Given the description of an element on the screen output the (x, y) to click on. 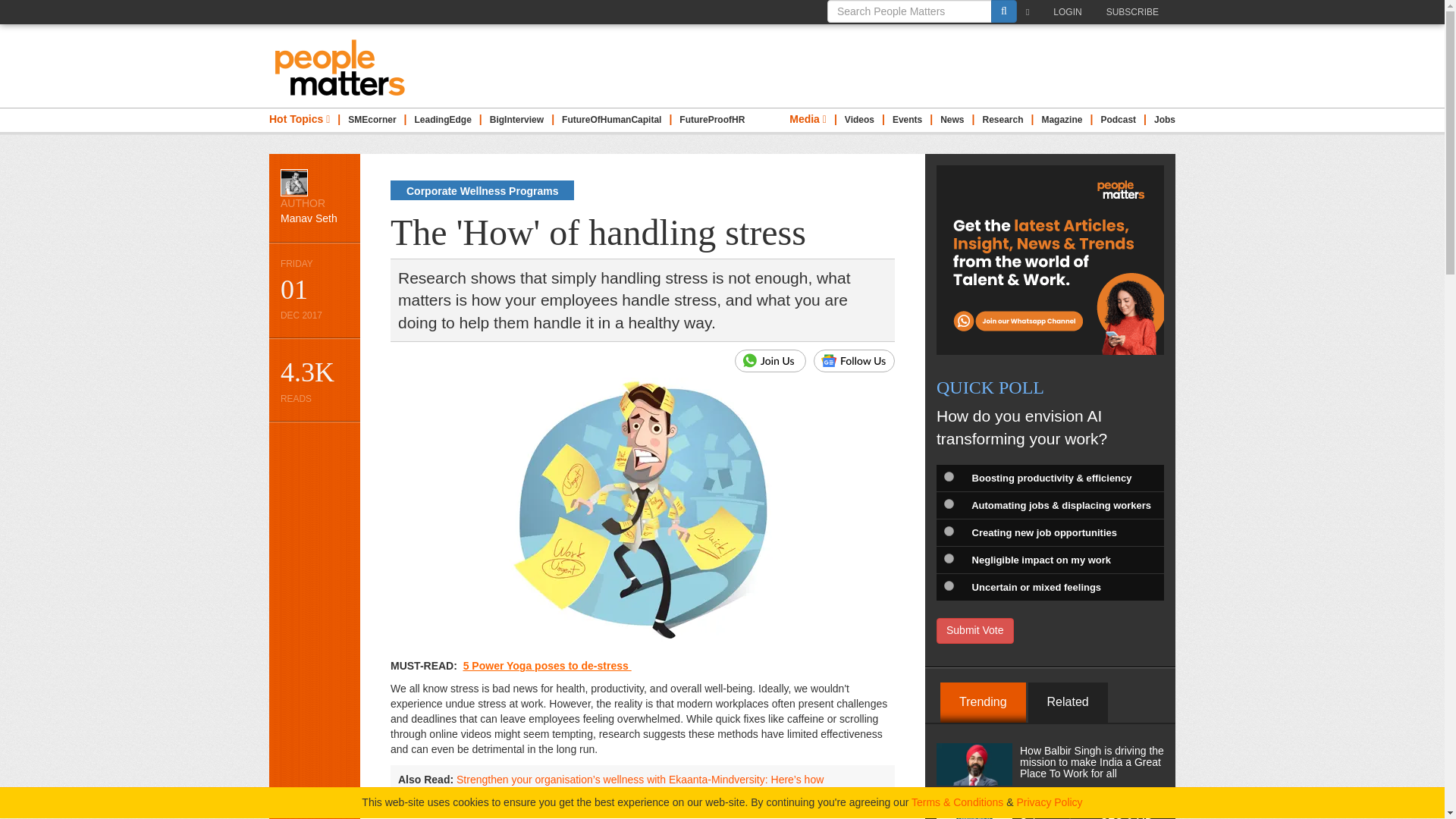
Browse more in: Corporate Wellness Programs (481, 189)
People Matters Unplugged (1117, 119)
320 (948, 476)
322 (948, 531)
Posted on: Friday 1st, December 2017 01:58pm IST (314, 289)
Total 4322 times reads (314, 379)
323 (948, 558)
Corporate Wellness Programs (481, 189)
BigInterview (516, 119)
Follow Us (854, 360)
324 (948, 585)
LeadingEdge (442, 119)
5 Power Yoga poses to de-stress (545, 665)
News (951, 119)
Manav Seth (294, 182)
